Given the description of an element on the screen output the (x, y) to click on. 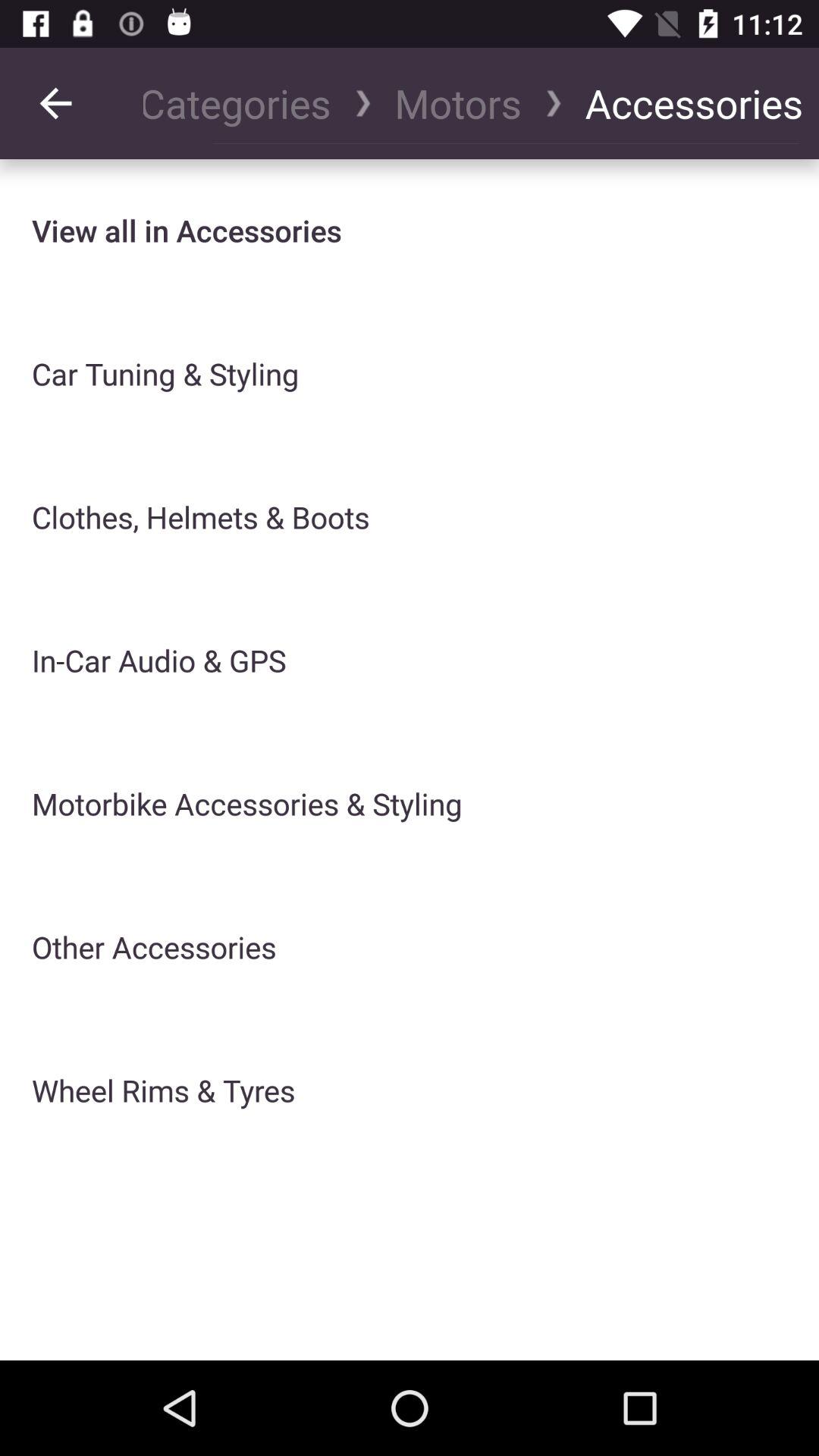
click icon above motorbike accessories & styling item (158, 660)
